Given the description of an element on the screen output the (x, y) to click on. 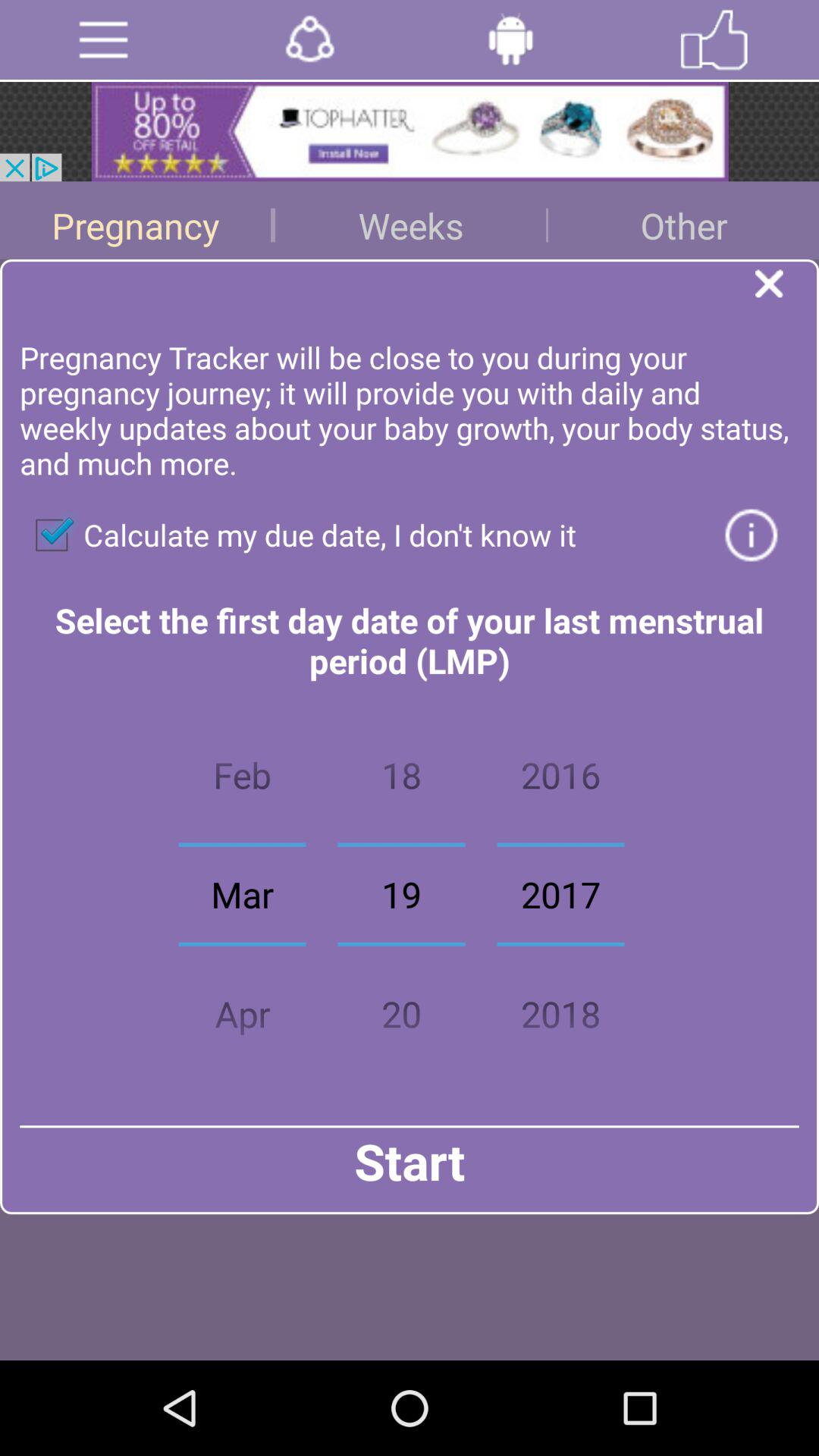
deploy menu options (103, 39)
